Given the description of an element on the screen output the (x, y) to click on. 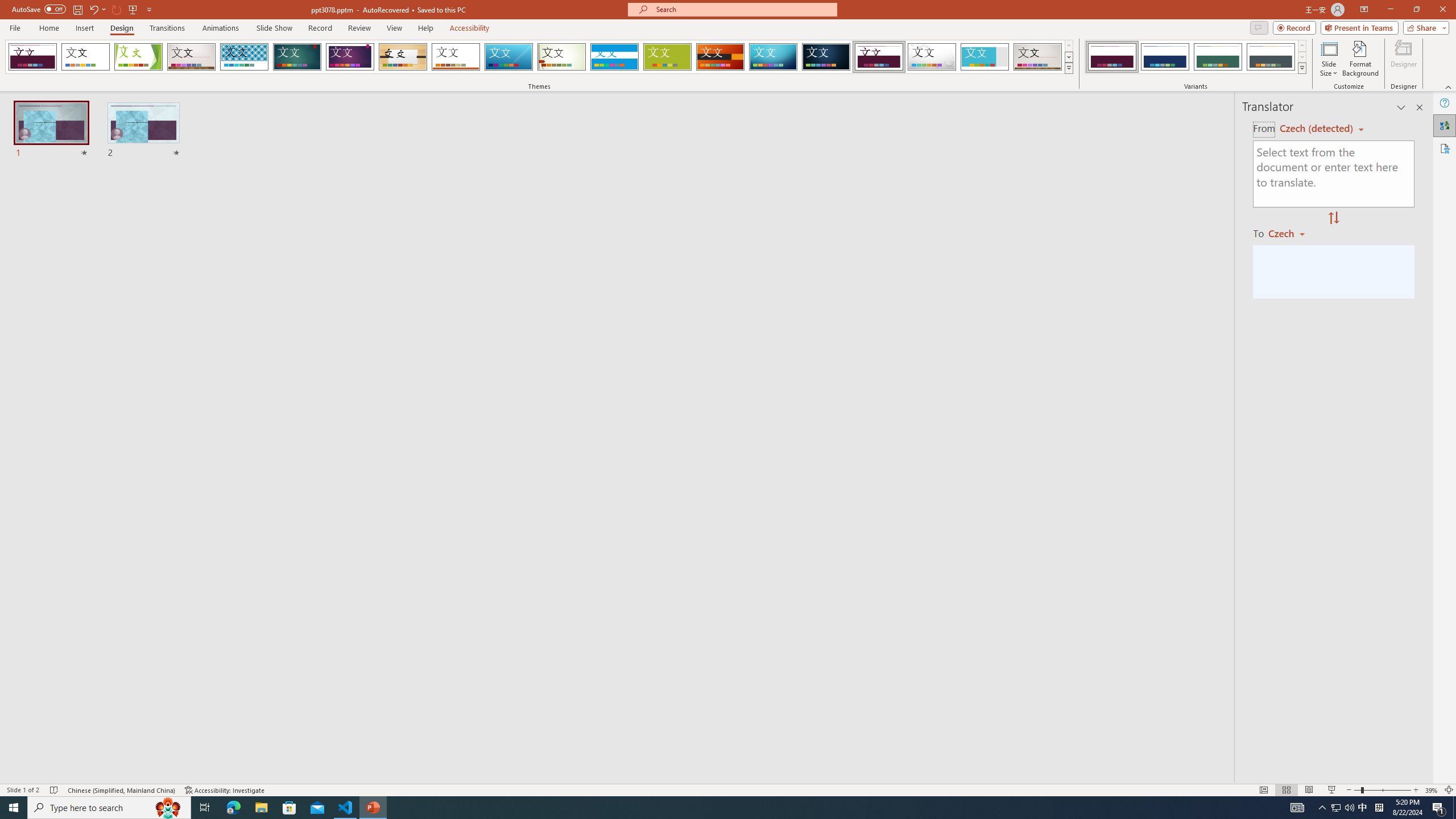
Facet (138, 56)
Czech (detected) (1317, 128)
Slide Size (1328, 58)
Swap "from" and "to" languages. (1333, 218)
Ion (296, 56)
Droplet (931, 56)
